Given the description of an element on the screen output the (x, y) to click on. 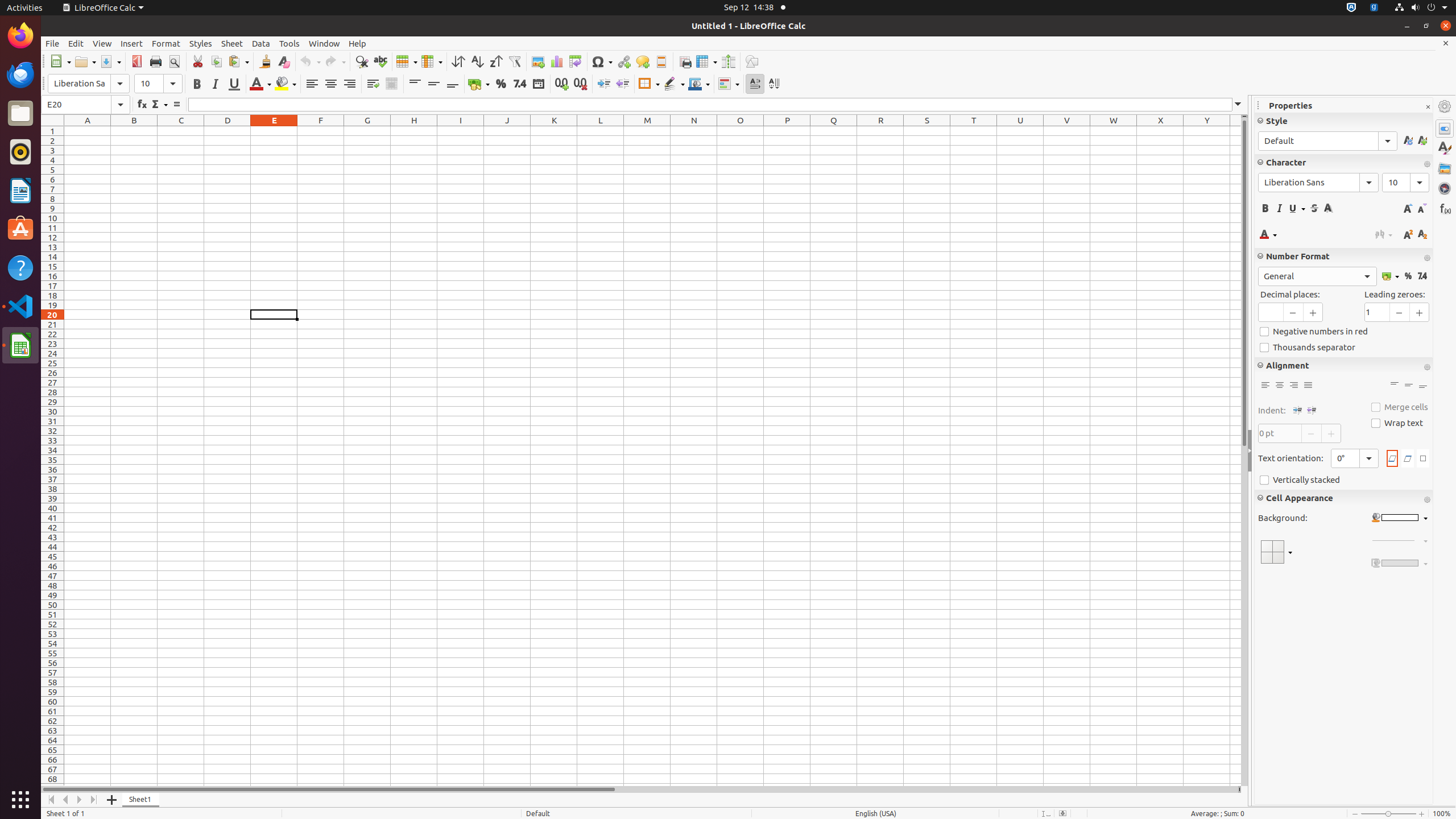
Image Element type: push-button (537, 61)
Window Element type: menu (324, 43)
Underline Element type: push-button (233, 83)
Font Name Element type: combo-box (88, 83)
D1 Element type: table-cell (227, 130)
